Given the description of an element on the screen output the (x, y) to click on. 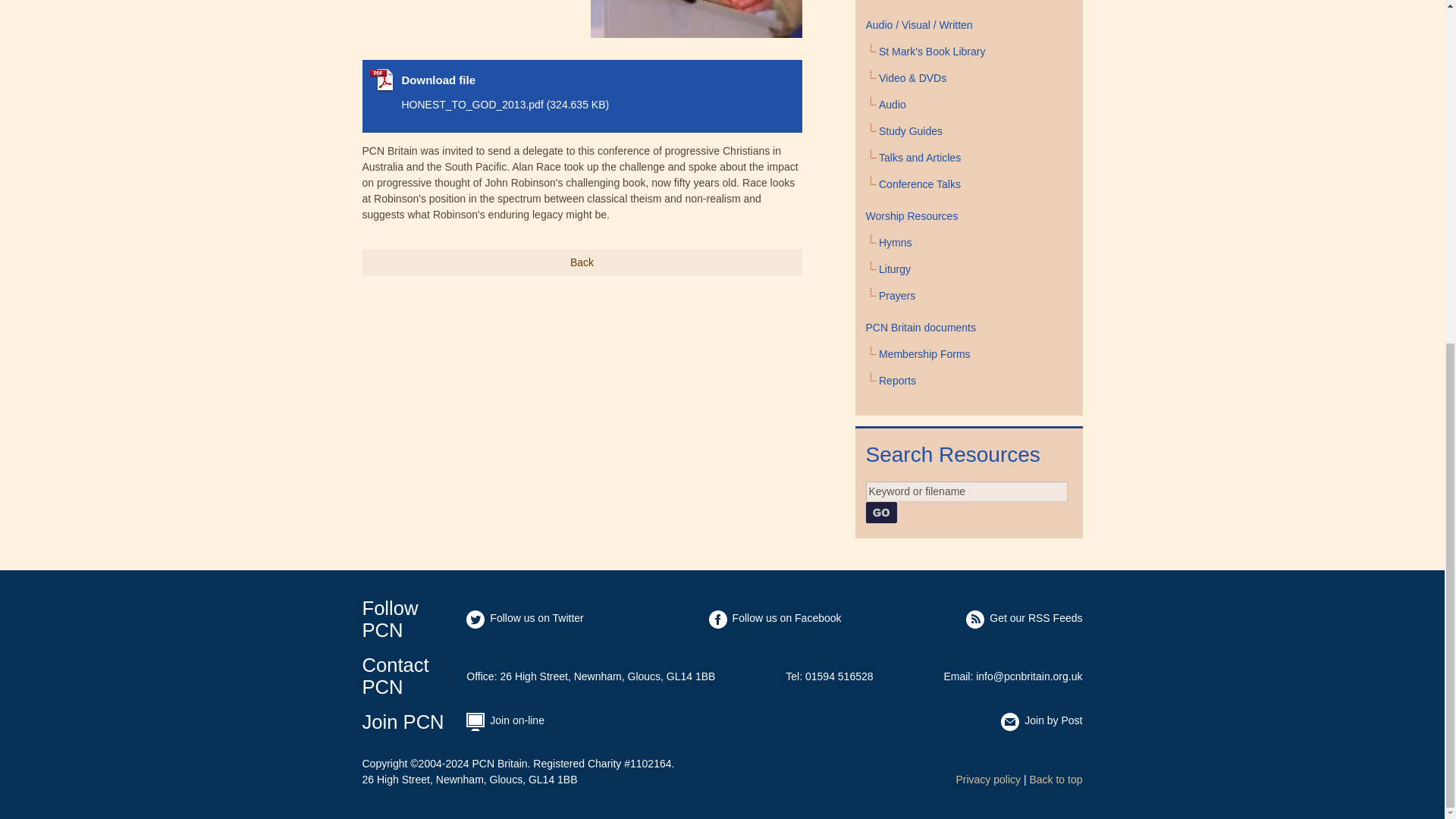
Keyword or filename (966, 491)
Talks and Articles (919, 157)
Worship Resources (912, 215)
Conference Talks (919, 184)
Study Guides (910, 131)
St Mark's Book Library (932, 51)
Back (582, 262)
Audio (892, 104)
